Given the description of an element on the screen output the (x, y) to click on. 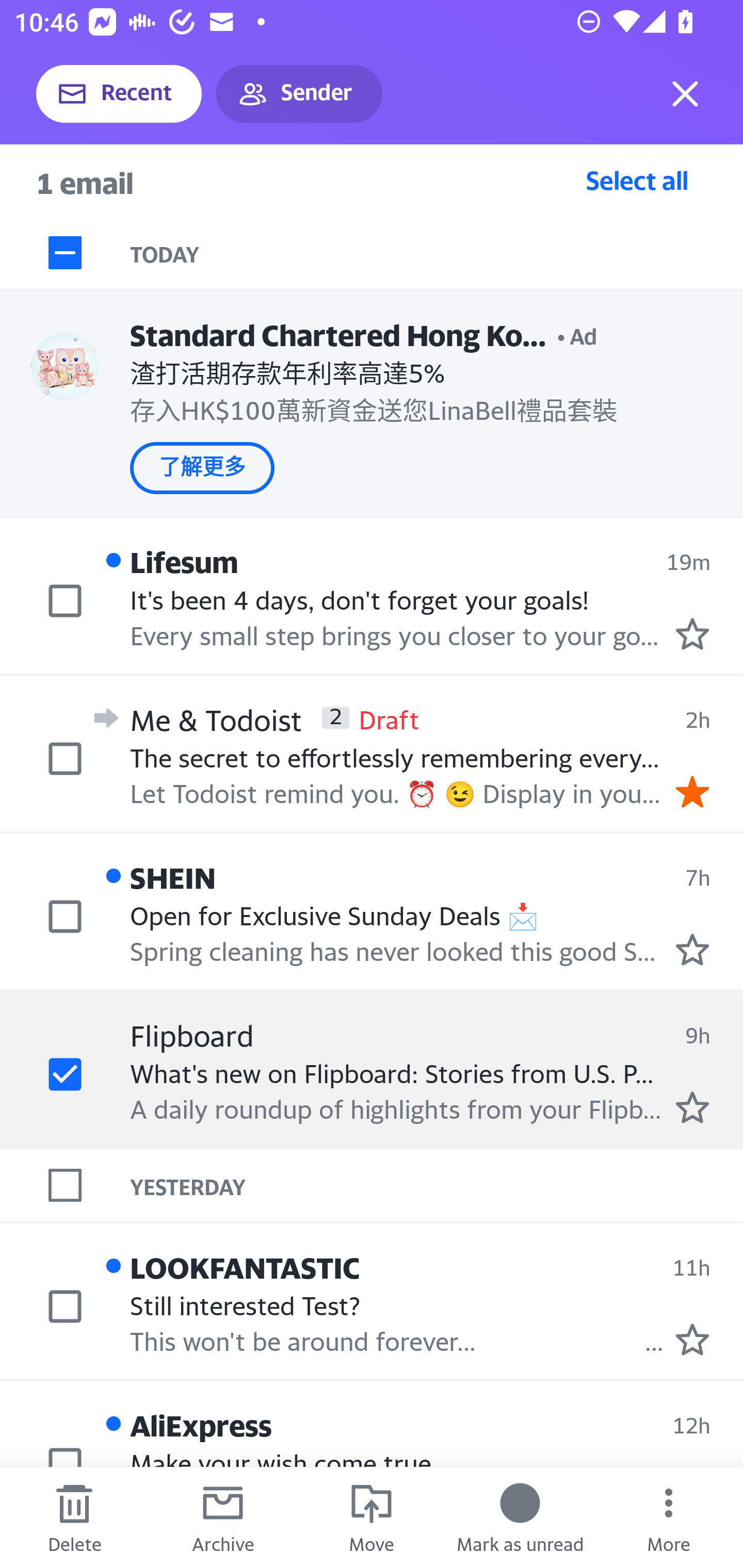
Sender (299, 93)
Exit selection mode (684, 93)
Select all (637, 180)
TODAY (436, 252)
Mark as starred. (692, 634)
Remove star. (692, 791)
Mark as starred. (692, 949)
Mark as starred. (692, 1107)
YESTERDAY (436, 1184)
Mark as starred. (692, 1339)
Delete (74, 1517)
Archive (222, 1517)
Move (371, 1517)
Mark as unread (519, 1517)
More (668, 1517)
